Given the description of an element on the screen output the (x, y) to click on. 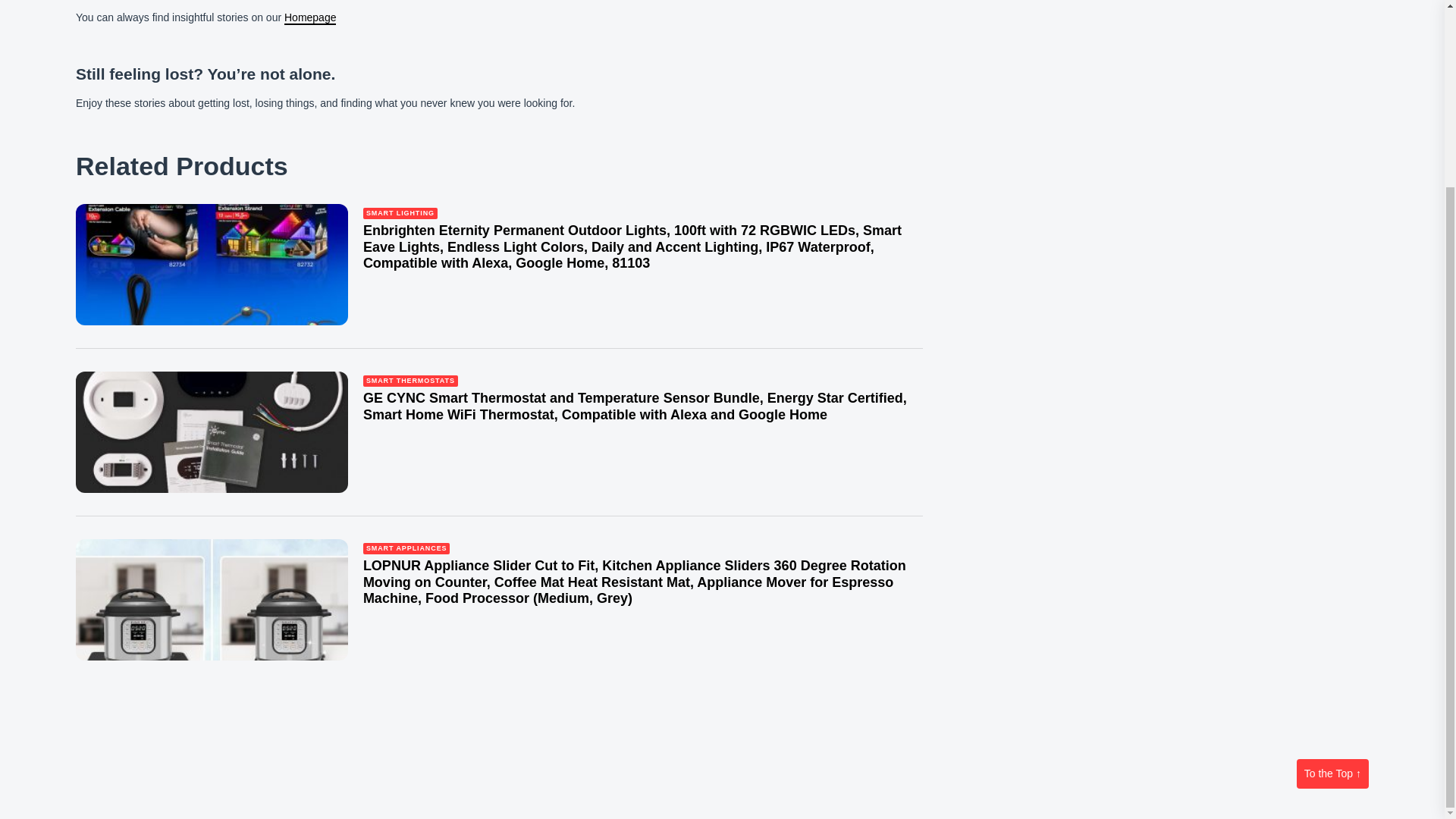
SMART LIGHTING (400, 213)
Homepage (309, 18)
SMART THERMOSTATS (410, 380)
SMART APPLIANCES (405, 548)
